Given the description of an element on the screen output the (x, y) to click on. 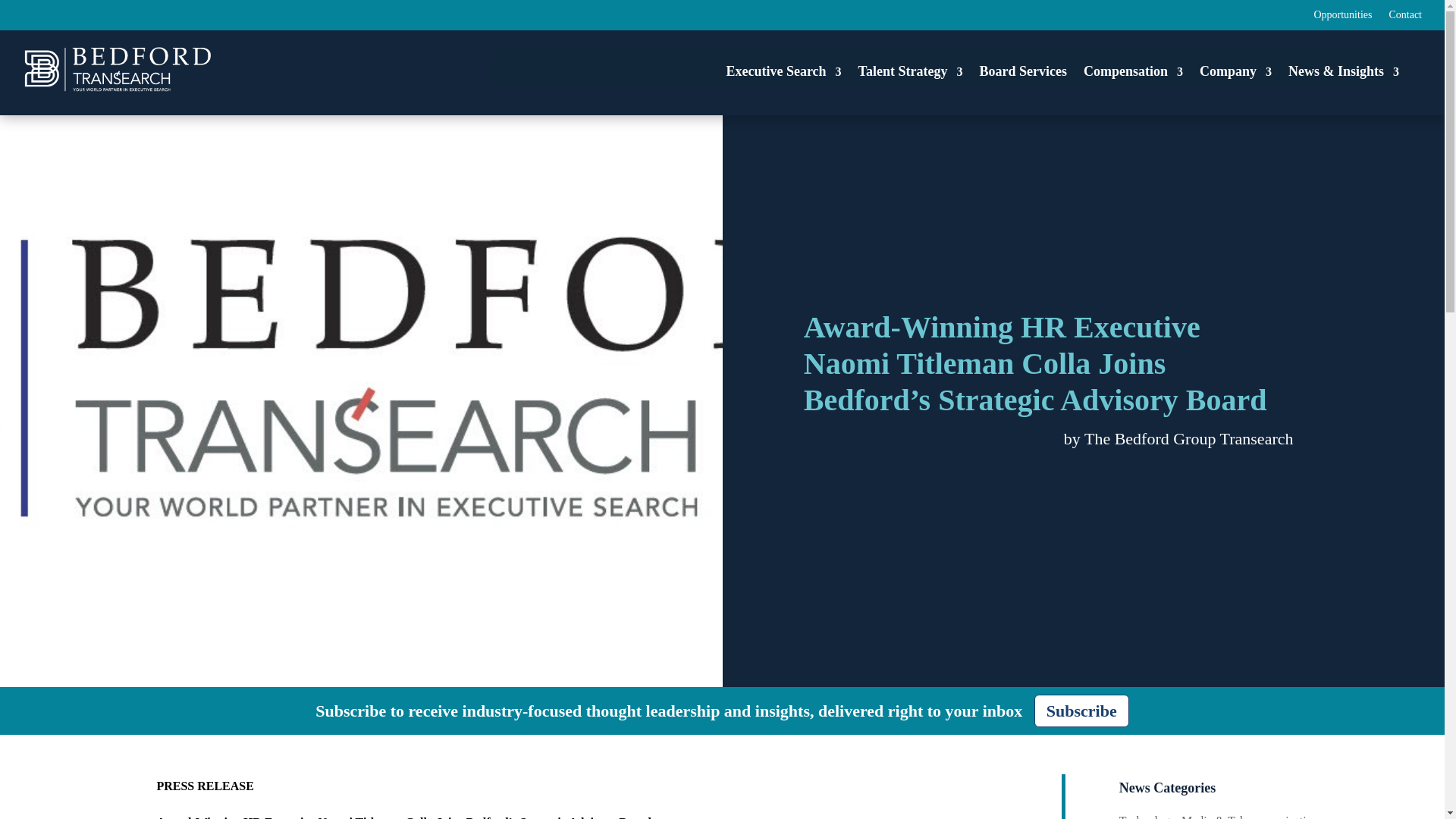
Talent Strategy (910, 71)
Contact (1405, 17)
Posts by The Bedford Group Transearch (1189, 438)
Opportunities (1342, 17)
Follow on LinkedIn (1411, 14)
Executive Search (783, 71)
